Given the description of an element on the screen output the (x, y) to click on. 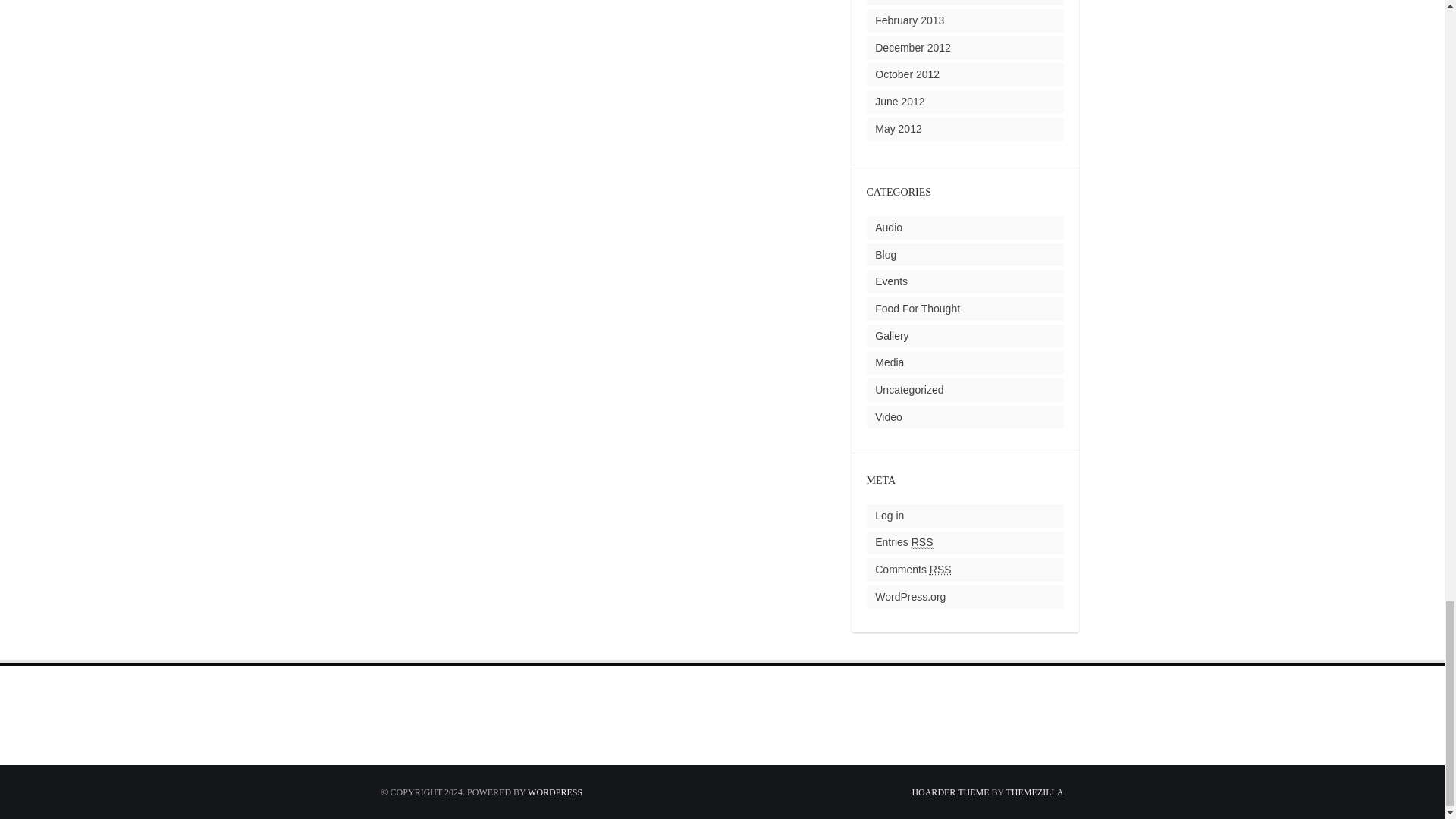
Really Simple Syndication (922, 542)
All events (891, 281)
Daily dose (917, 308)
Really Simple Syndication (941, 569)
